Given the description of an element on the screen output the (x, y) to click on. 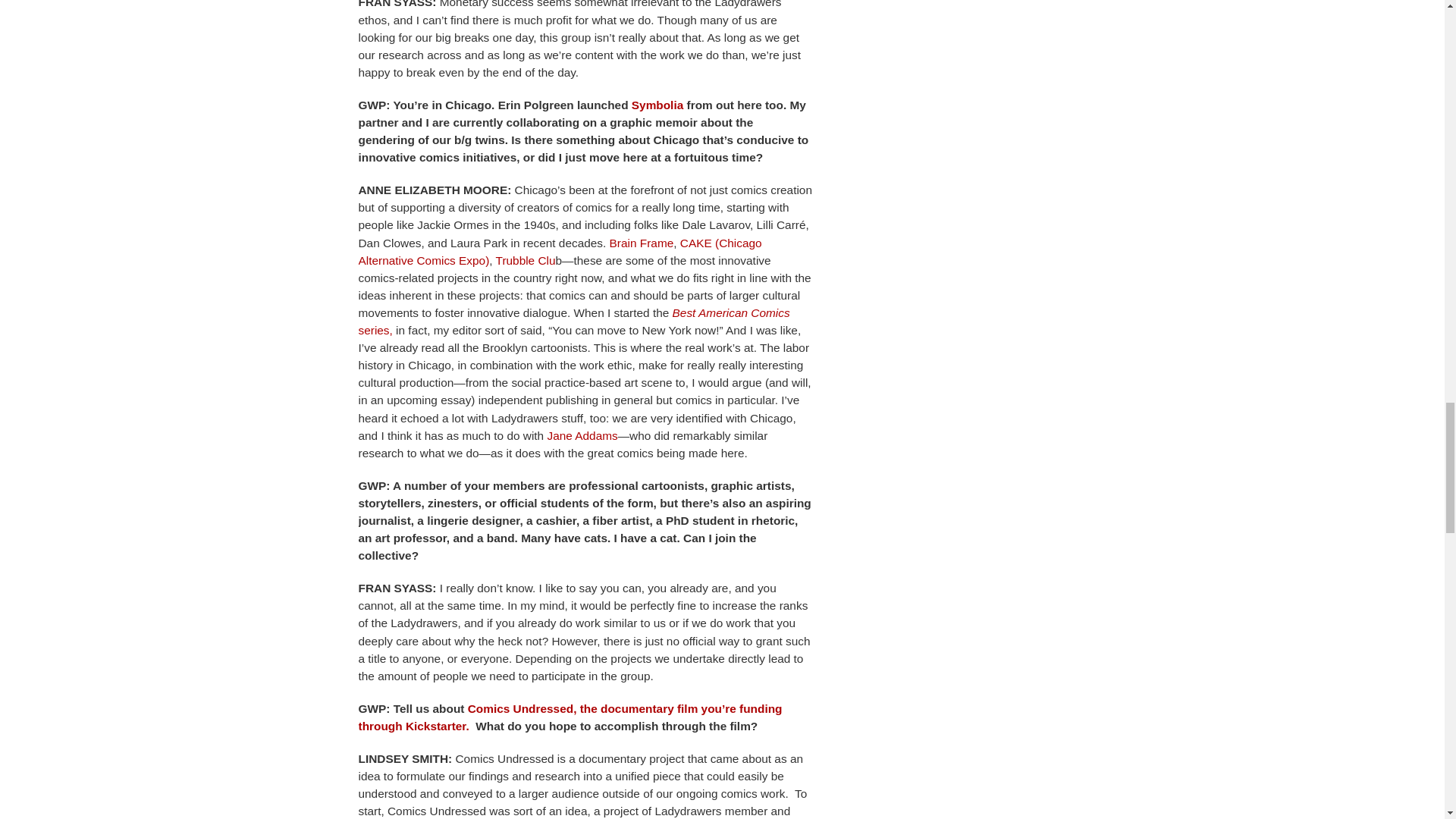
Trubble Clu (526, 259)
Symbolia (656, 104)
Best American Comics series, (573, 321)
Jane Addams (582, 435)
Brain Frame (642, 242)
